Given the description of an element on the screen output the (x, y) to click on. 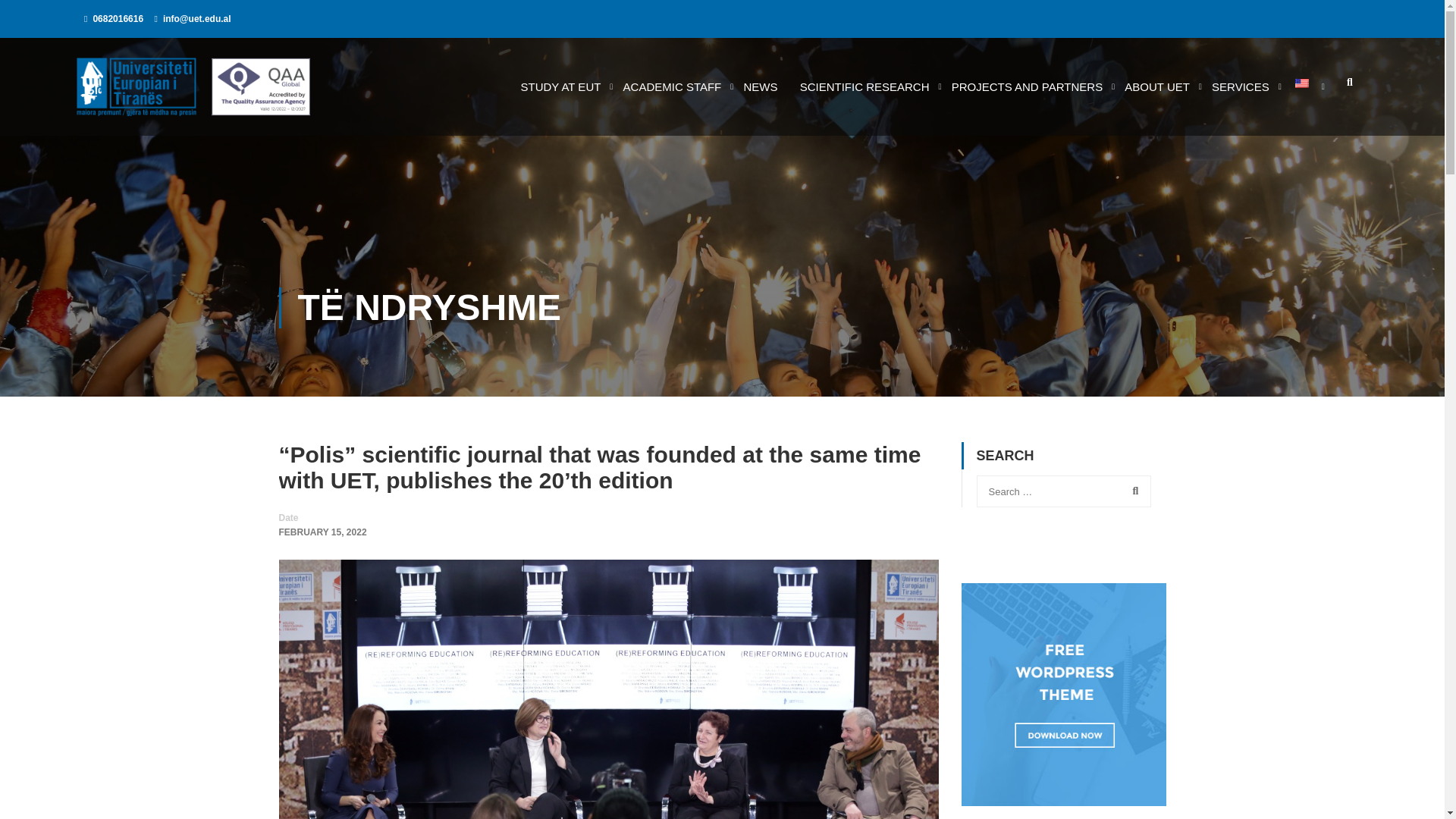
Search (1349, 87)
English (1301, 82)
Search (1349, 87)
Search (1132, 490)
Search (1132, 490)
